Given the description of an element on the screen output the (x, y) to click on. 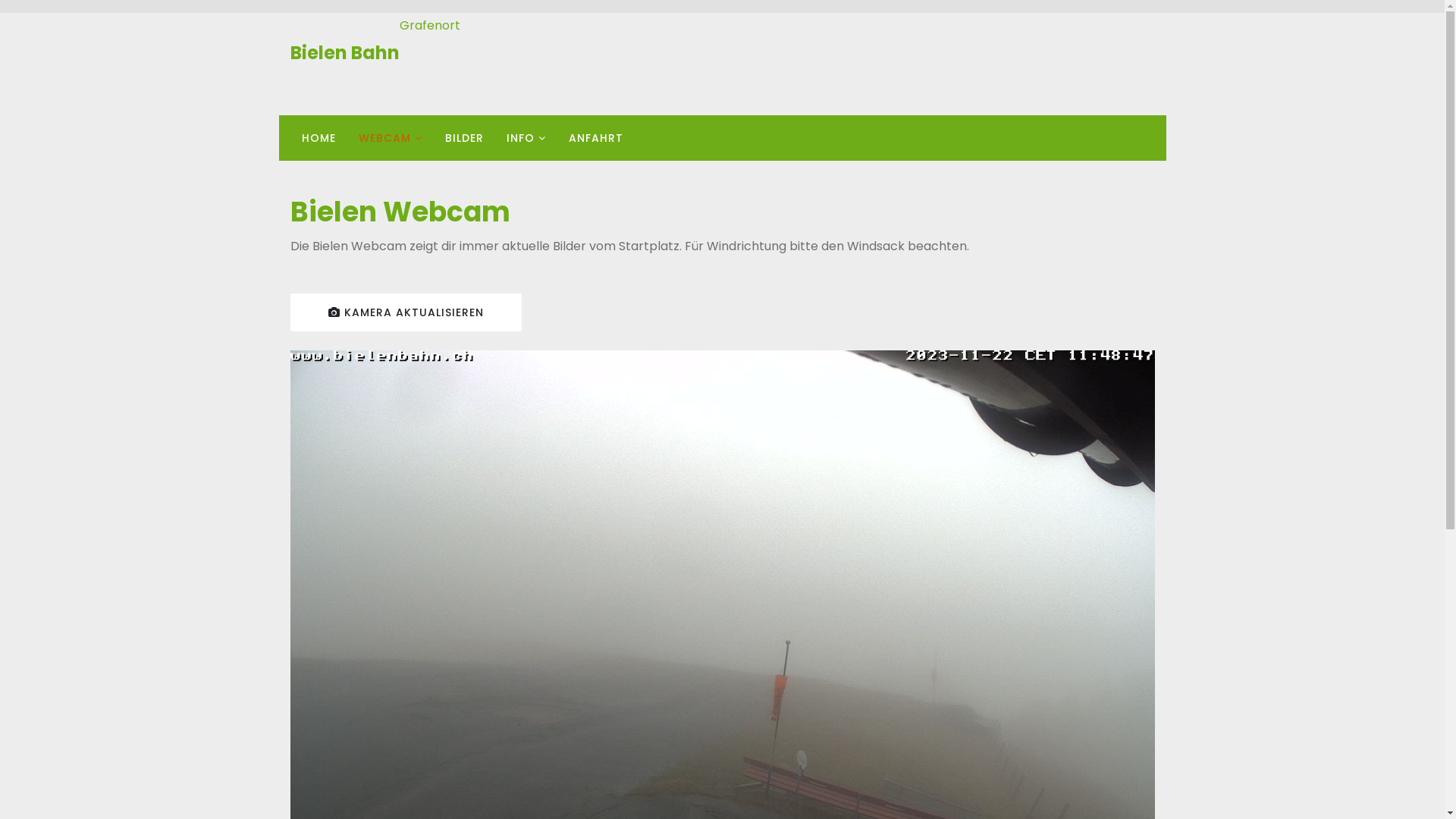
BILDER Element type: text (464, 137)
Bielen Bahn
Grafenort Element type: text (374, 52)
HOME Element type: text (317, 137)
ANFAHRT Element type: text (594, 137)
INFO Element type: text (525, 137)
WEBCAM Element type: text (390, 137)
KAMERA AKTUALISIEREN Element type: text (404, 312)
